Given the description of an element on the screen output the (x, y) to click on. 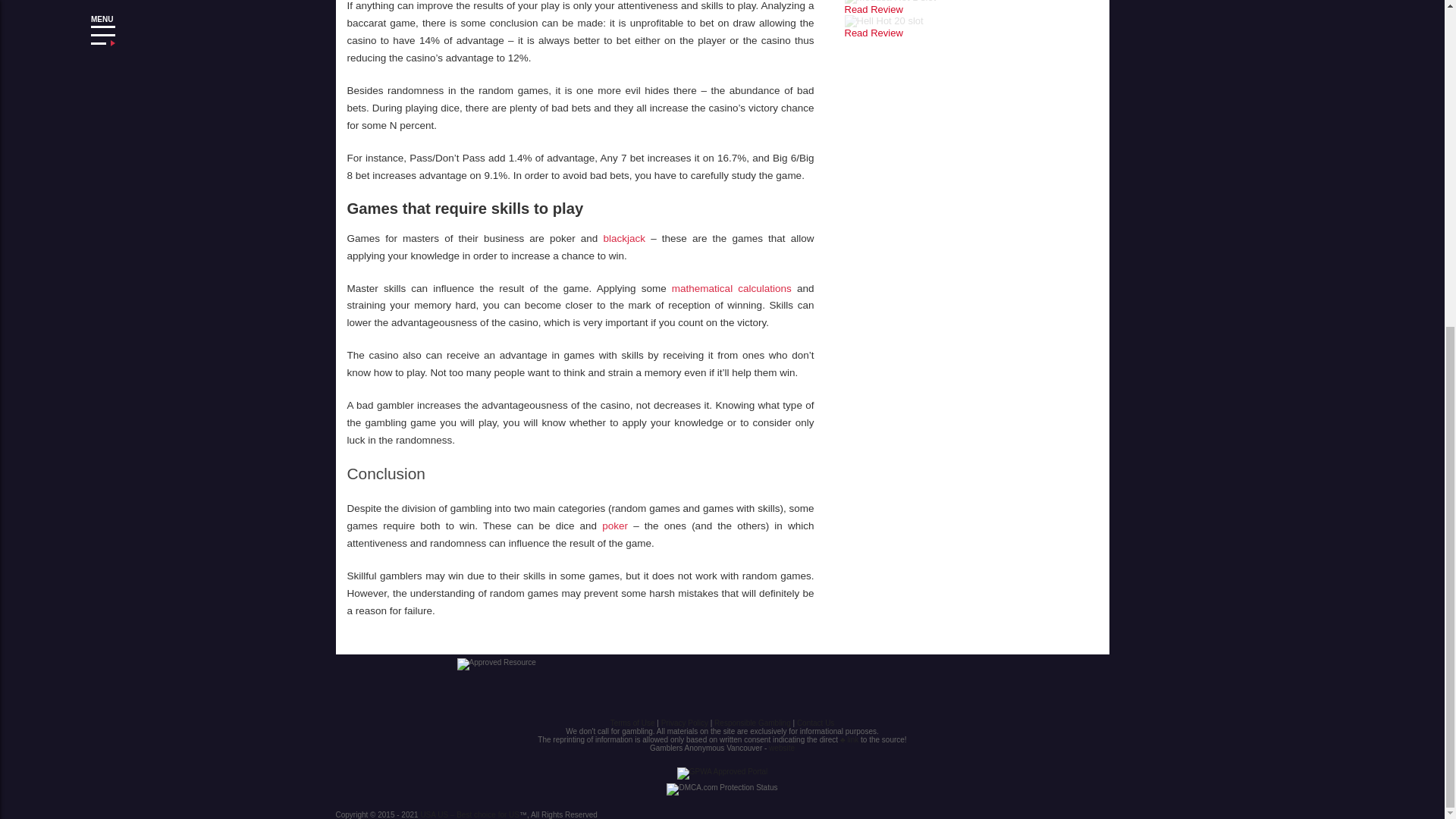
Terms of Use (632, 723)
Medusa Hot 1 (873, 9)
Privacy Policy (684, 723)
Responsible Gambling (752, 723)
Contact Us (815, 723)
Hell Hot 20 (873, 32)
